Given the description of an element on the screen output the (x, y) to click on. 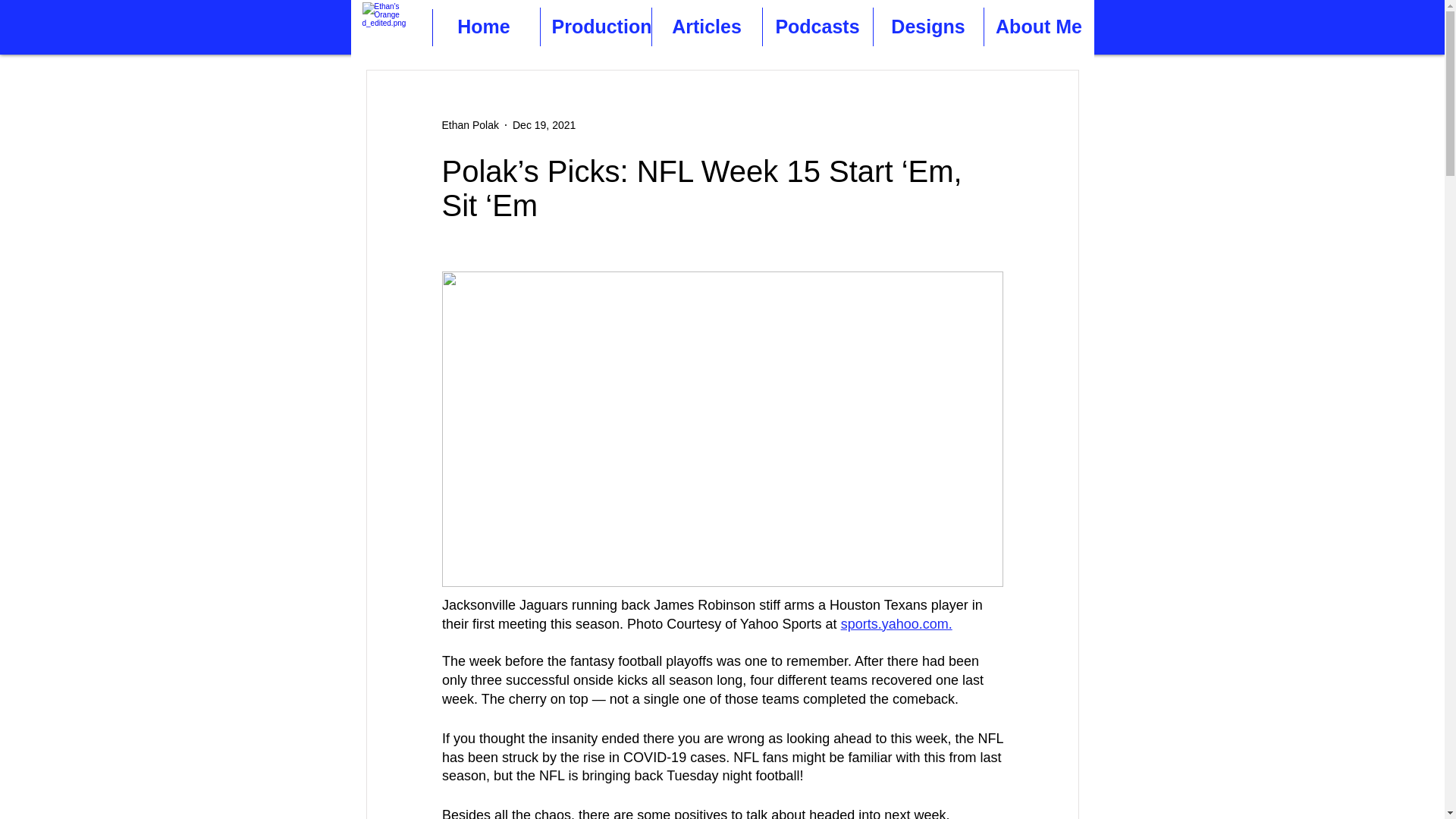
About Me (1039, 26)
Home (483, 26)
Designs (928, 26)
Ethan Polak (470, 124)
Production (595, 26)
Dec 19, 2021 (543, 123)
Articles (706, 26)
sports.yahoo.com. (896, 623)
Podcasts (817, 26)
